Given the description of an element on the screen output the (x, y) to click on. 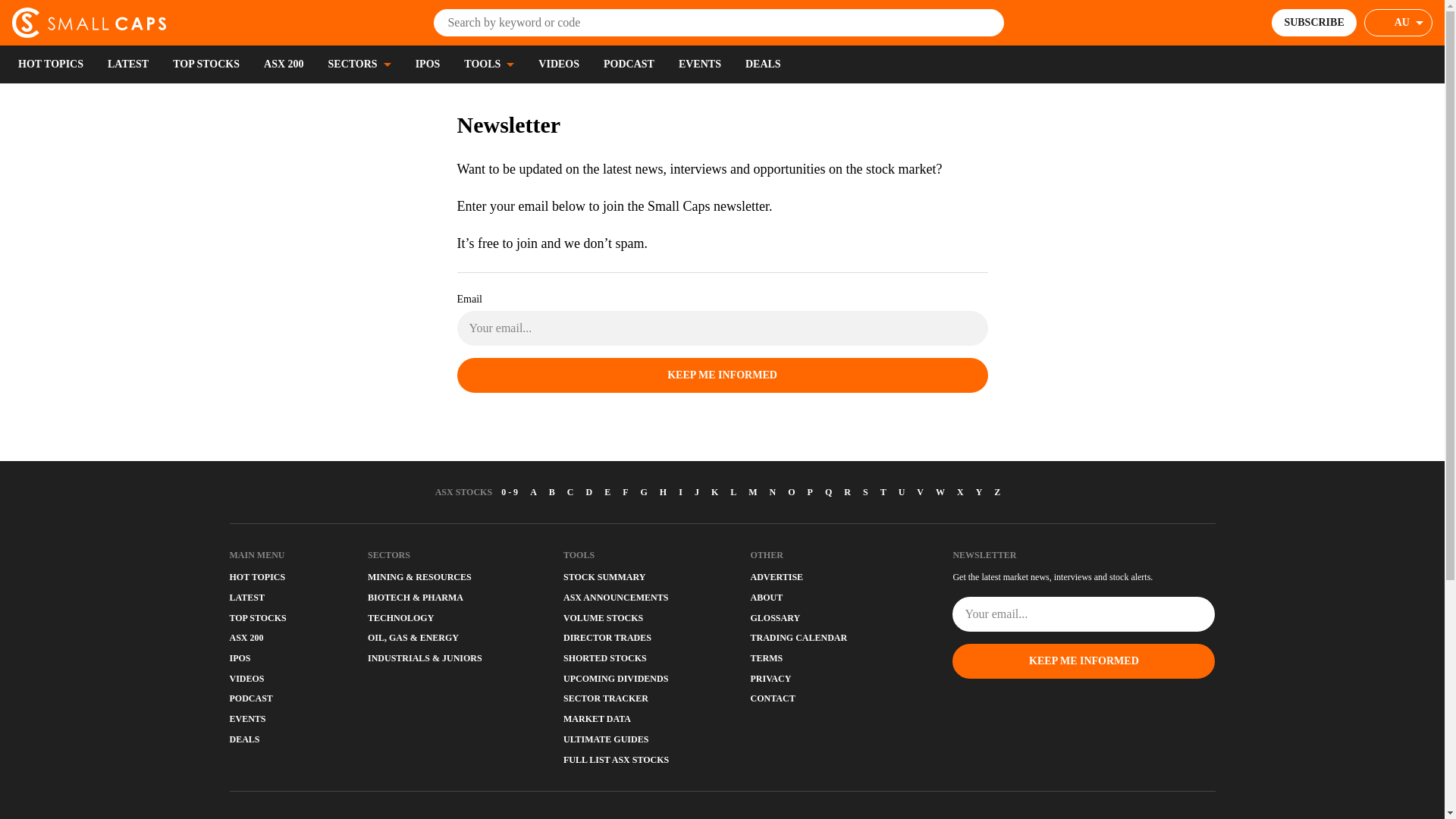
SUBSCRIBE (1313, 22)
ASX 200 (283, 63)
Australia (1408, 22)
LATEST (127, 63)
TOOLS (488, 63)
AU (1398, 22)
SECTORS (360, 63)
VIDEOS (558, 63)
TOP STOCKS (206, 63)
HOT TOPICS (49, 63)
